Given the description of an element on the screen output the (x, y) to click on. 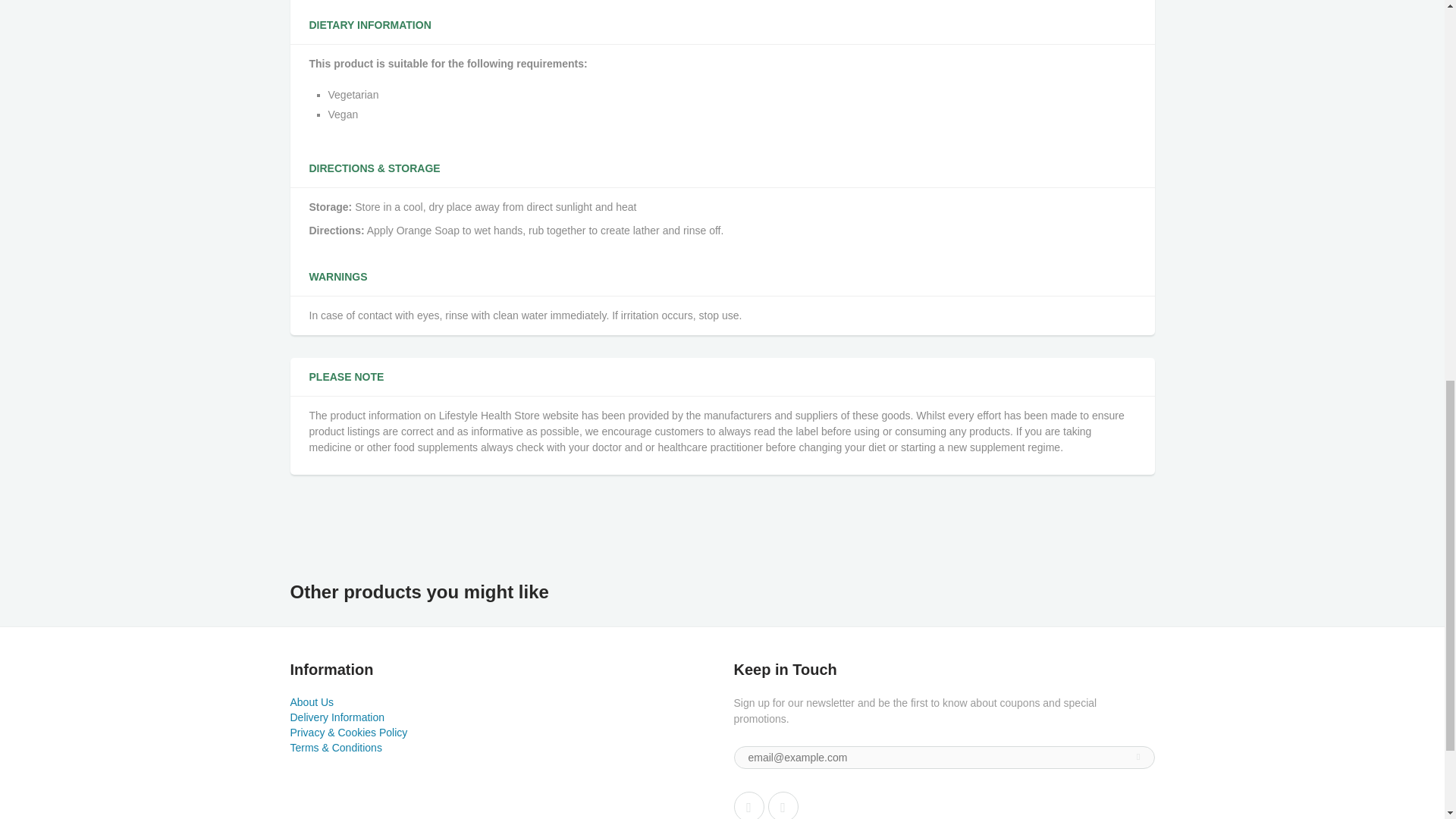
About Us (311, 702)
Facebook (748, 805)
Instagram (782, 805)
Delivery Information (336, 717)
